Given the description of an element on the screen output the (x, y) to click on. 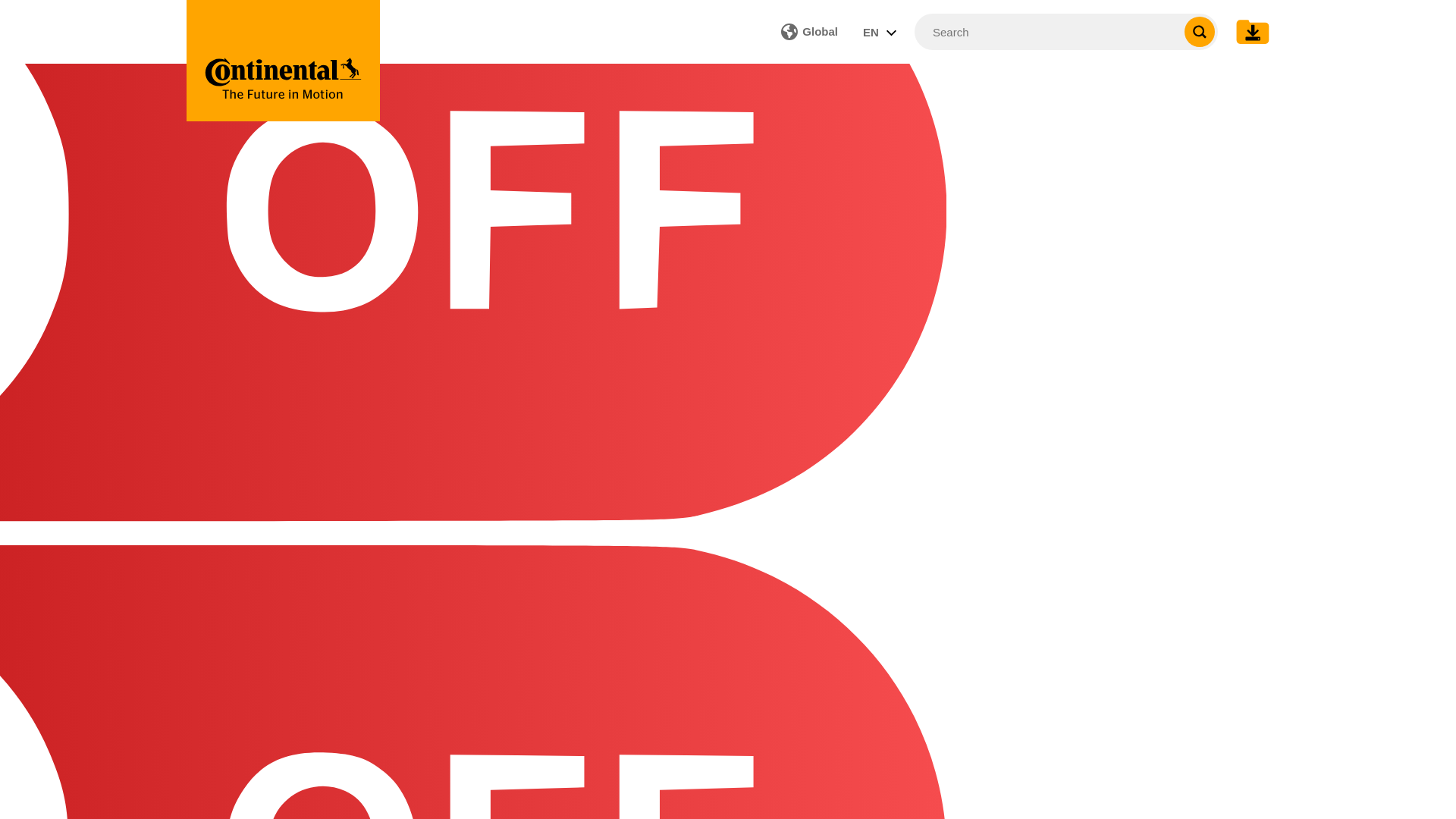
Global (809, 31)
EN (880, 31)
Continental AG (283, 60)
